Given the description of an element on the screen output the (x, y) to click on. 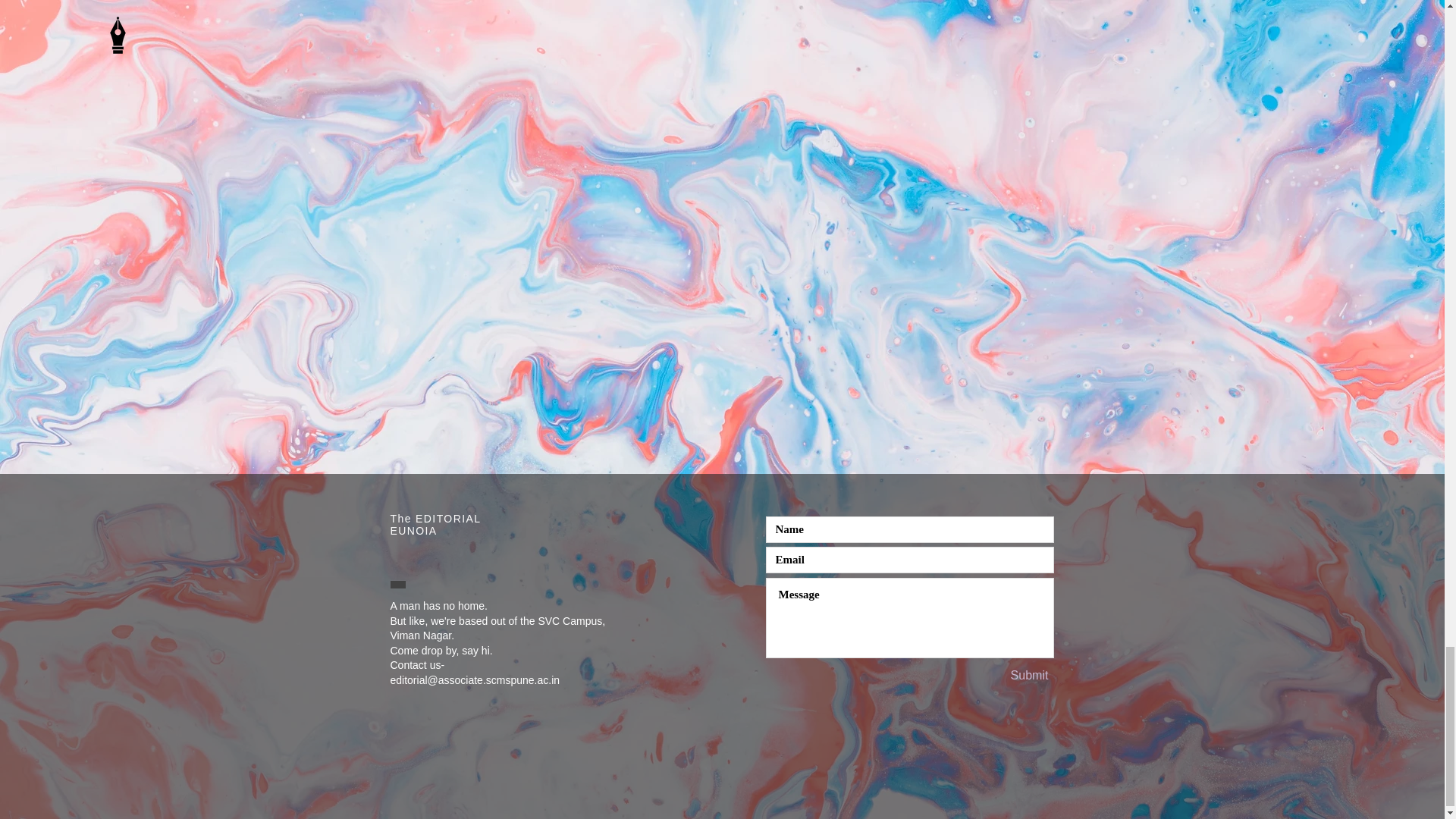
Submit (1029, 675)
